Given the description of an element on the screen output the (x, y) to click on. 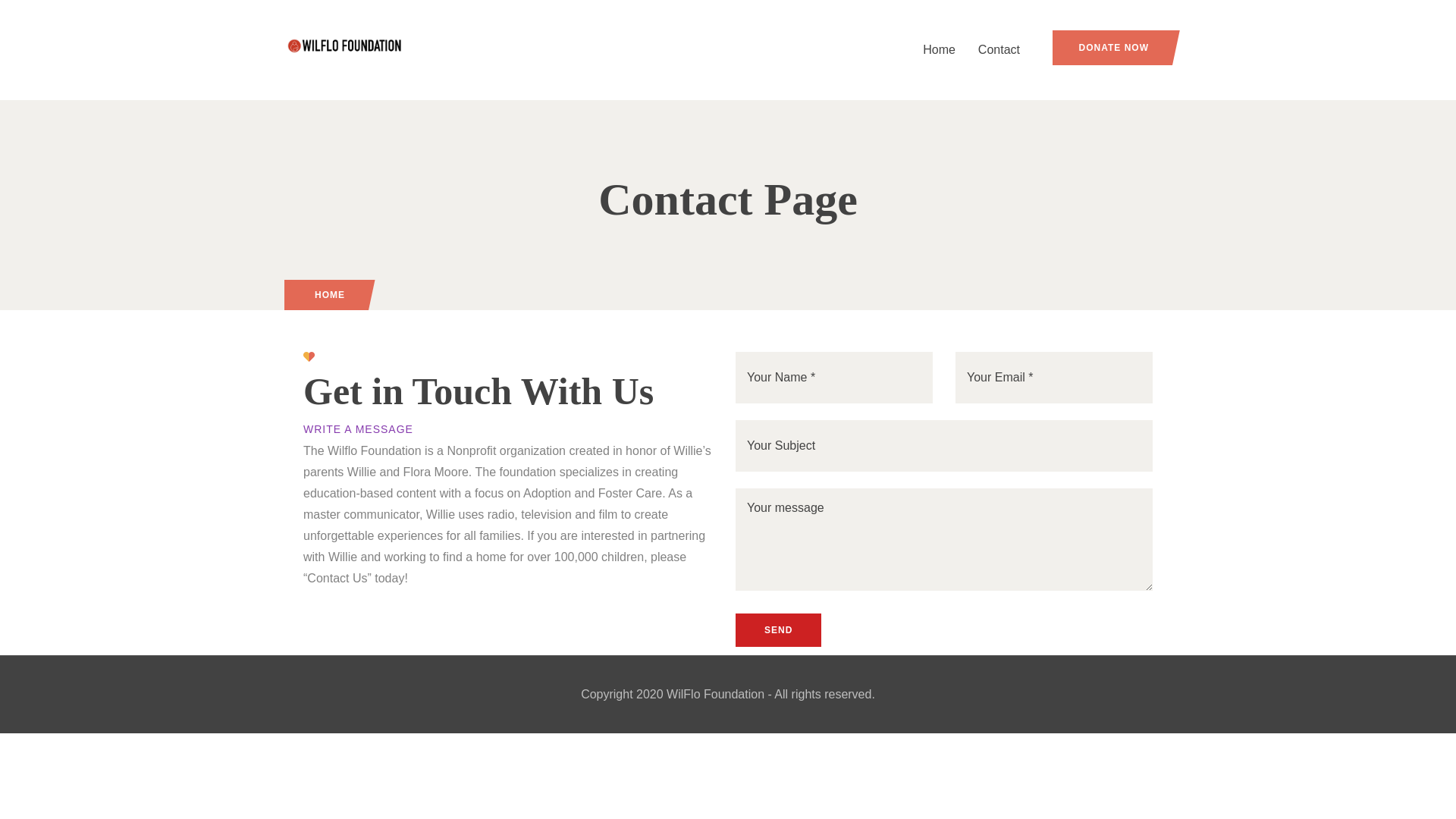
DONATE NOW (1112, 47)
HOME (329, 294)
Send (778, 630)
Home (938, 49)
Contact (998, 49)
Send (778, 630)
